Given the description of an element on the screen output the (x, y) to click on. 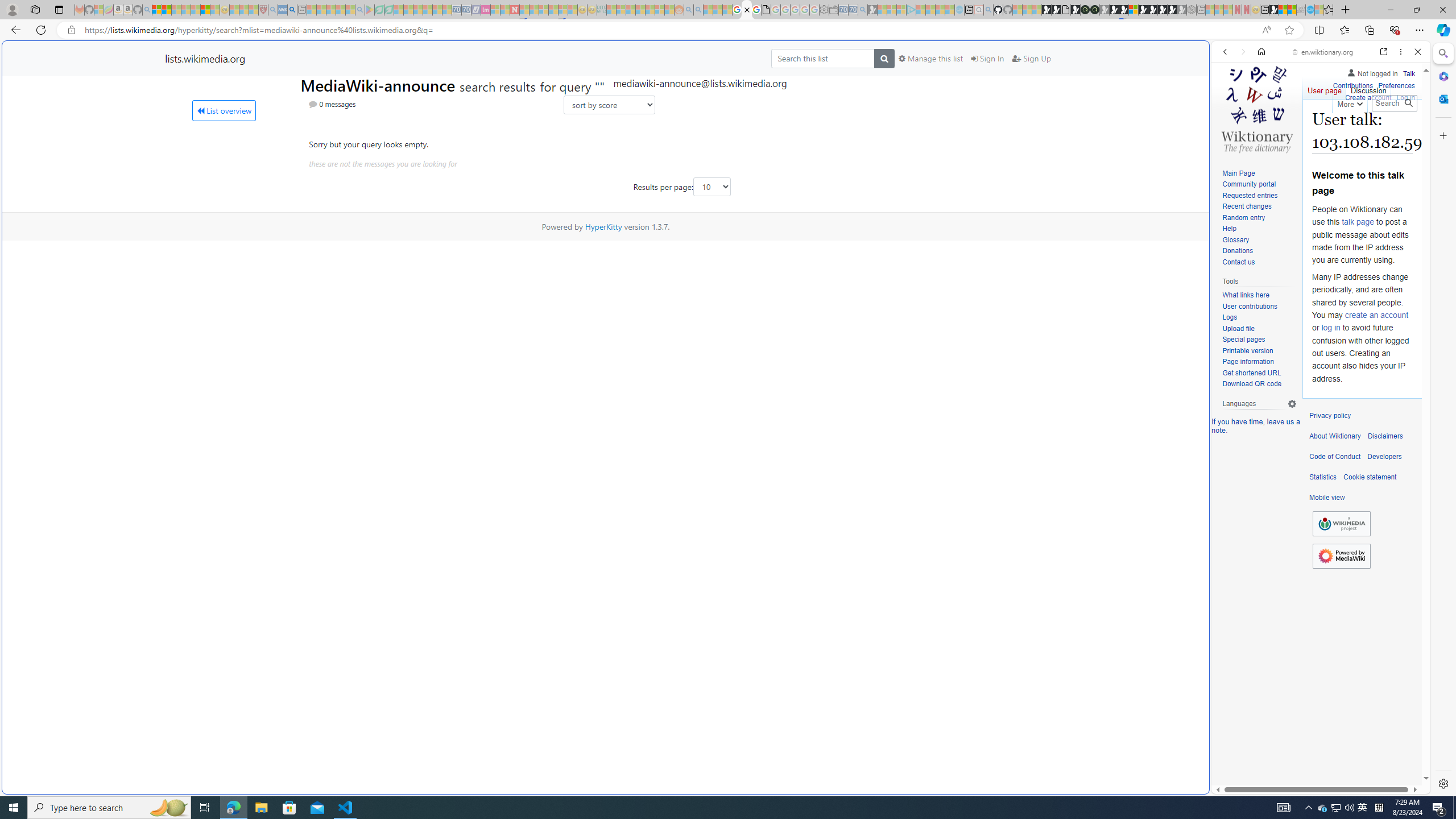
Get shortened URL (1251, 372)
AutomationID: footer-copyrightico (1341, 523)
Requested entries (1259, 196)
Privacy policy (1329, 415)
en.wiktionary.org (1323, 51)
Page information (1259, 361)
google_privacy_policy_zh-CN.pdf (1118, 683)
